Given the description of an element on the screen output the (x, y) to click on. 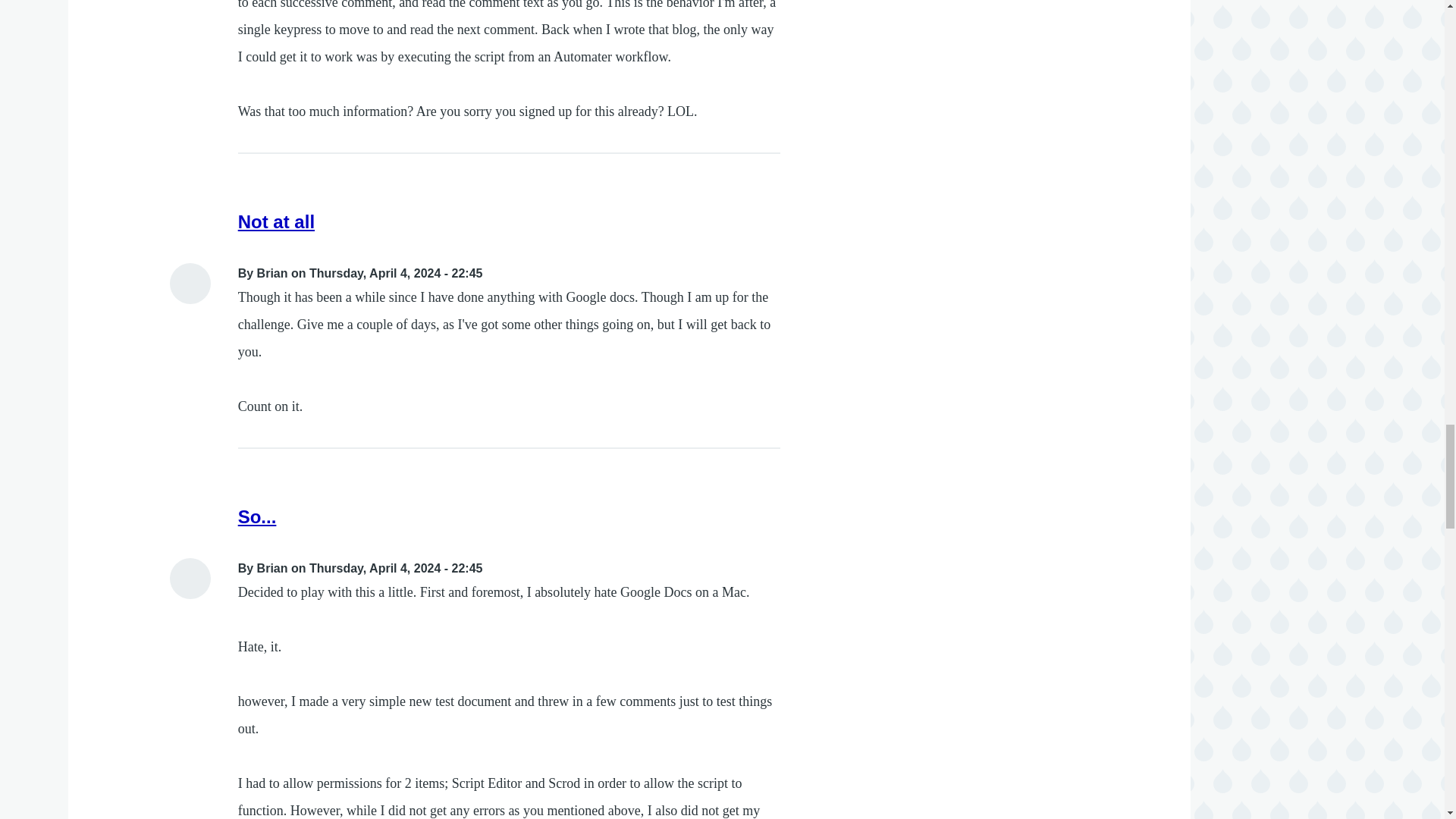
Not at all (276, 221)
So... (257, 516)
